Given the description of an element on the screen output the (x, y) to click on. 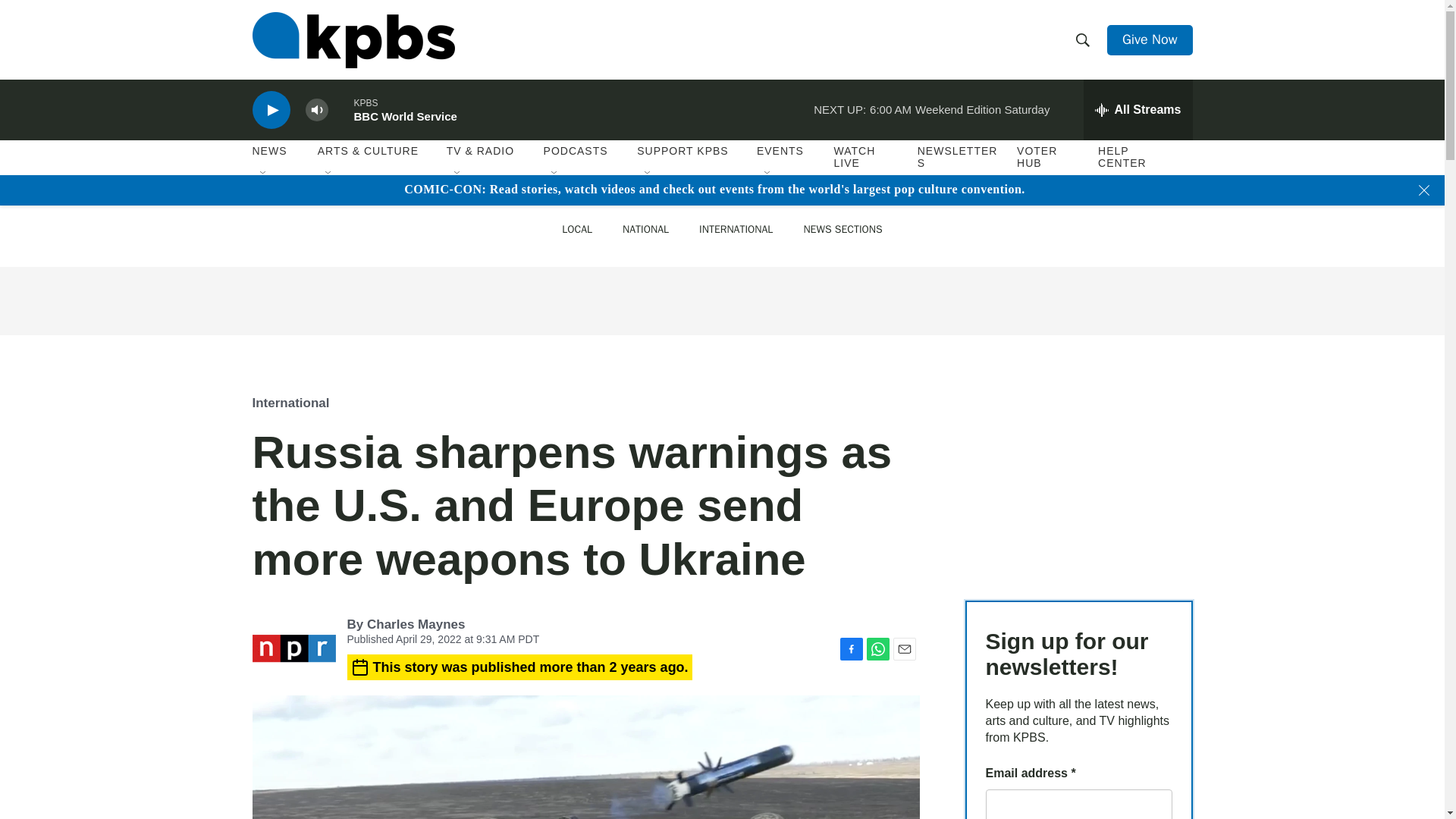
3rd party ad content (1077, 475)
3rd party ad content (721, 300)
